Given the description of an element on the screen output the (x, y) to click on. 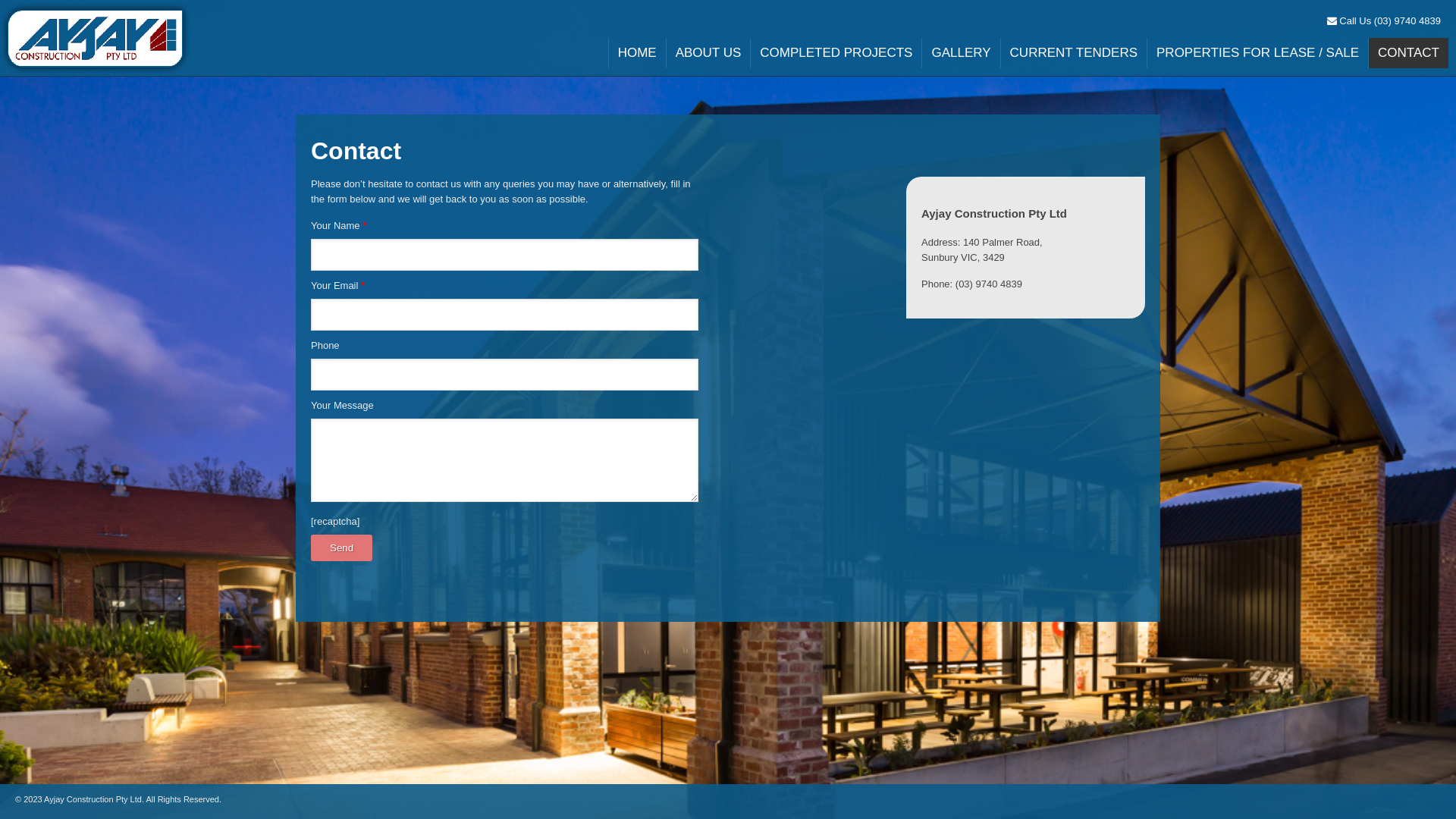
COMPLETED PROJECTS Element type: text (835, 52)
Call Us (03) 9740 4839 Element type: text (1383, 20)
HOME Element type: text (636, 52)
PROPERTIES FOR LEASE / SALE Element type: text (1257, 52)
Send Element type: text (341, 547)
CONTACT Element type: text (1408, 52)
CURRENT TENDERS Element type: text (1073, 52)
GALLERY Element type: text (960, 52)
ABOUT US Element type: text (707, 52)
